Given the description of an element on the screen output the (x, y) to click on. 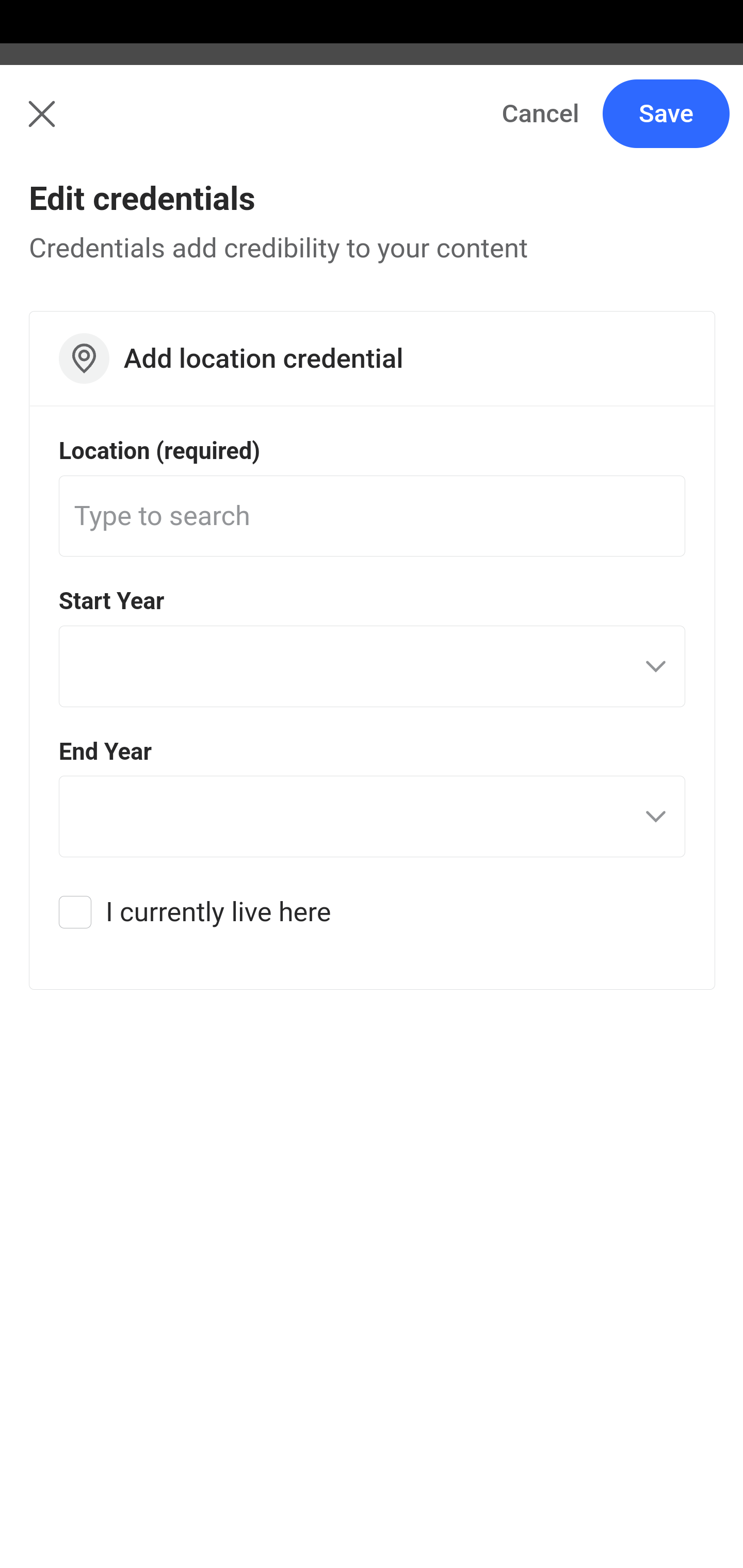
Me Following Search Add (371, 125)
Back (30, 125)
Add employment credential (372, 587)
